Given the description of an element on the screen output the (x, y) to click on. 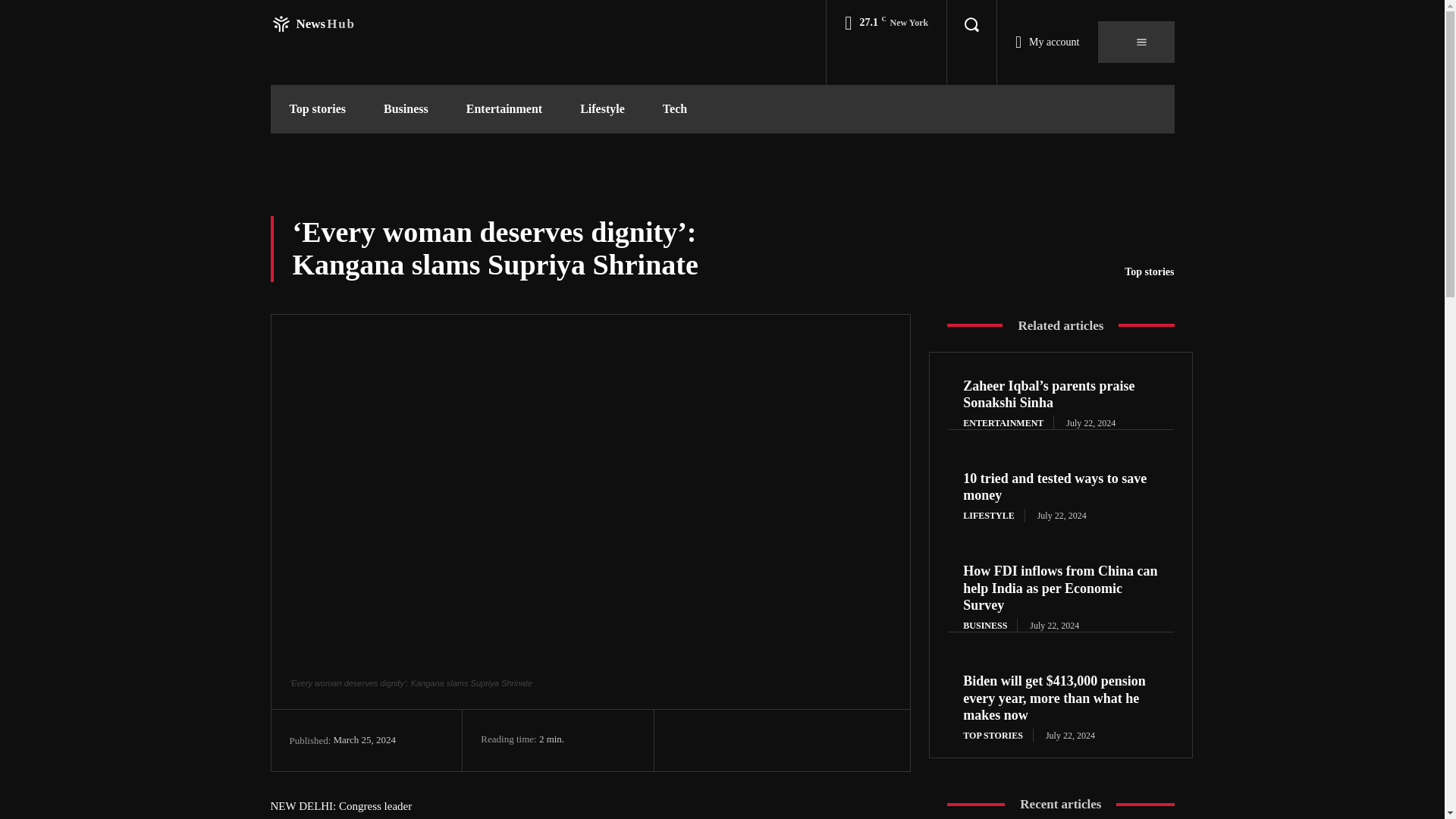
Latest For Me (312, 24)
Top stories (1148, 272)
Lifestyle (601, 109)
Top stories (317, 109)
Business (405, 109)
Entertainment (312, 24)
Tech (503, 109)
